Given the description of an element on the screen output the (x, y) to click on. 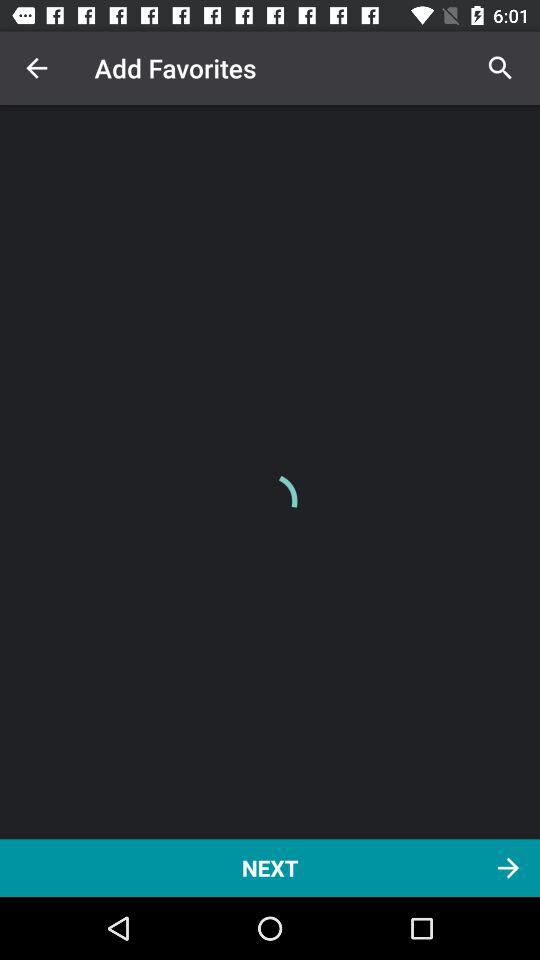
press the item next to the add favorites (36, 68)
